Given the description of an element on the screen output the (x, y) to click on. 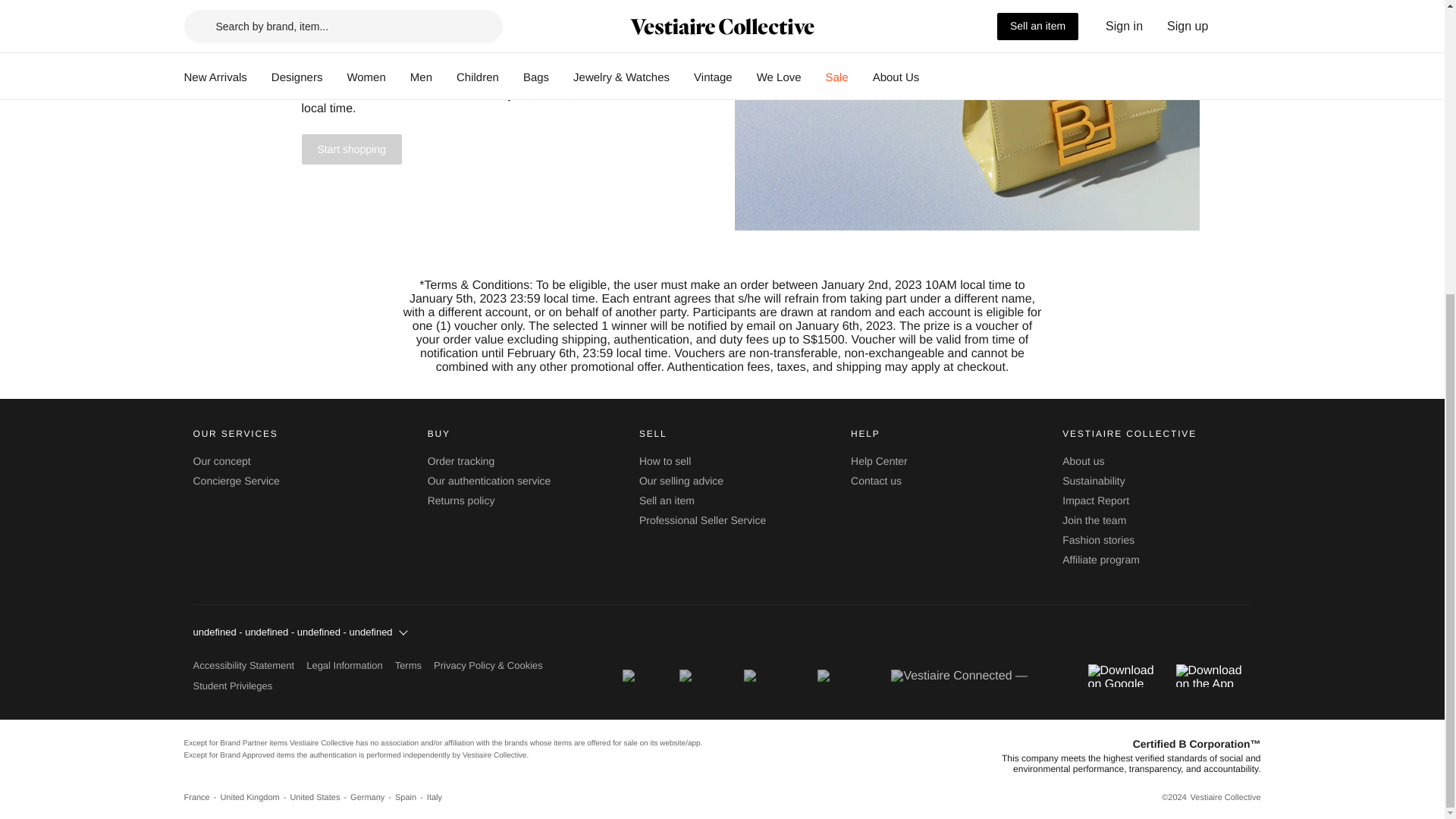
Germany (372, 797)
Contact us (875, 480)
Concierge Service (235, 480)
Order tracking (461, 460)
United States (319, 797)
Start shopping (351, 149)
Sustainability (1093, 480)
Start shopping (351, 149)
Our authentication service (489, 480)
Returns policy (461, 500)
Sell an item (666, 500)
Spain (410, 797)
Our concept (221, 460)
Our selling advice (681, 480)
United Kingdom (254, 797)
